Given the description of an element on the screen output the (x, y) to click on. 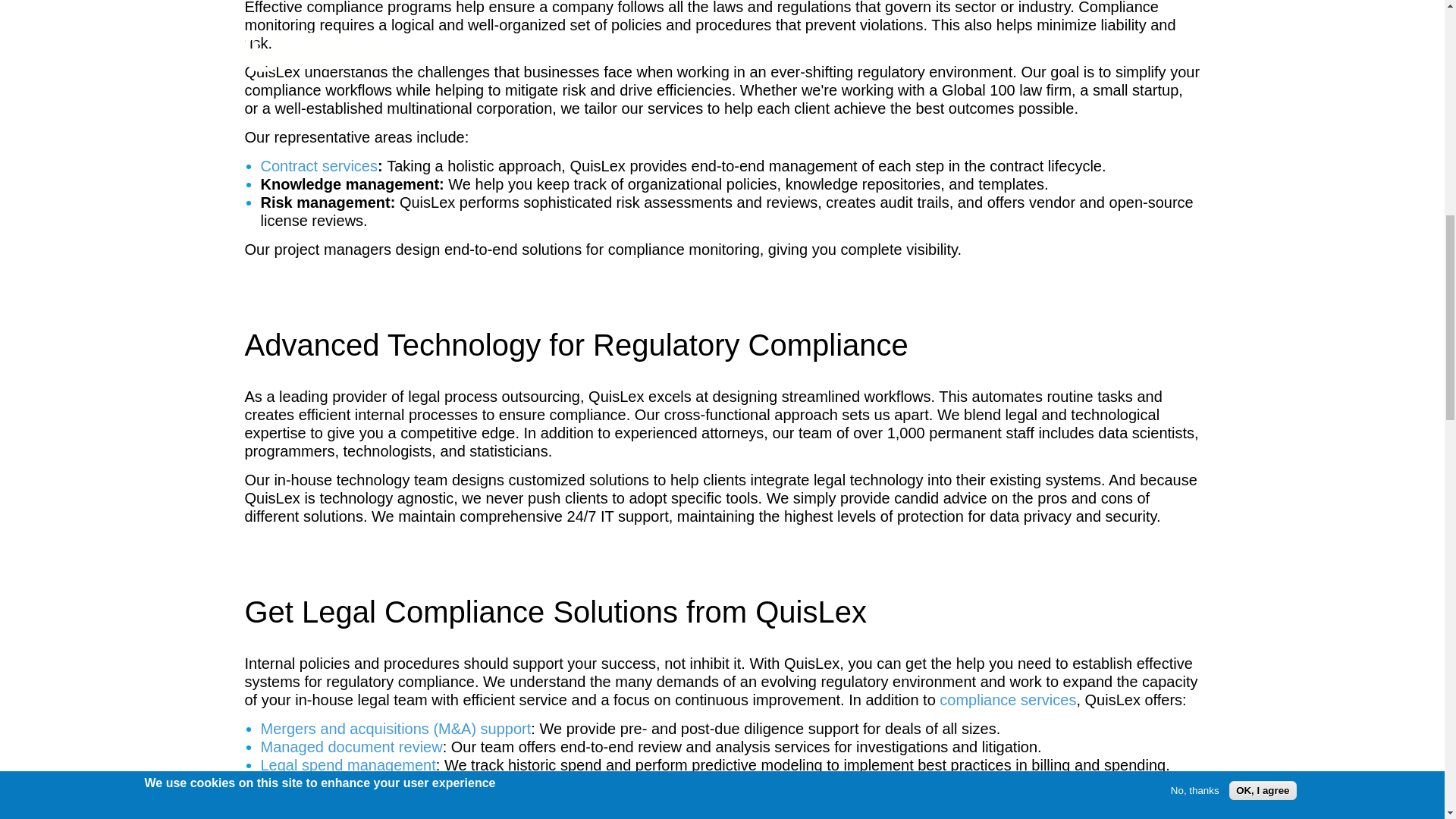
Contract services (319, 166)
compliance services (1007, 699)
Managed document review (351, 746)
Data breach support (328, 782)
Legal spend management (347, 764)
